Given the description of an element on the screen output the (x, y) to click on. 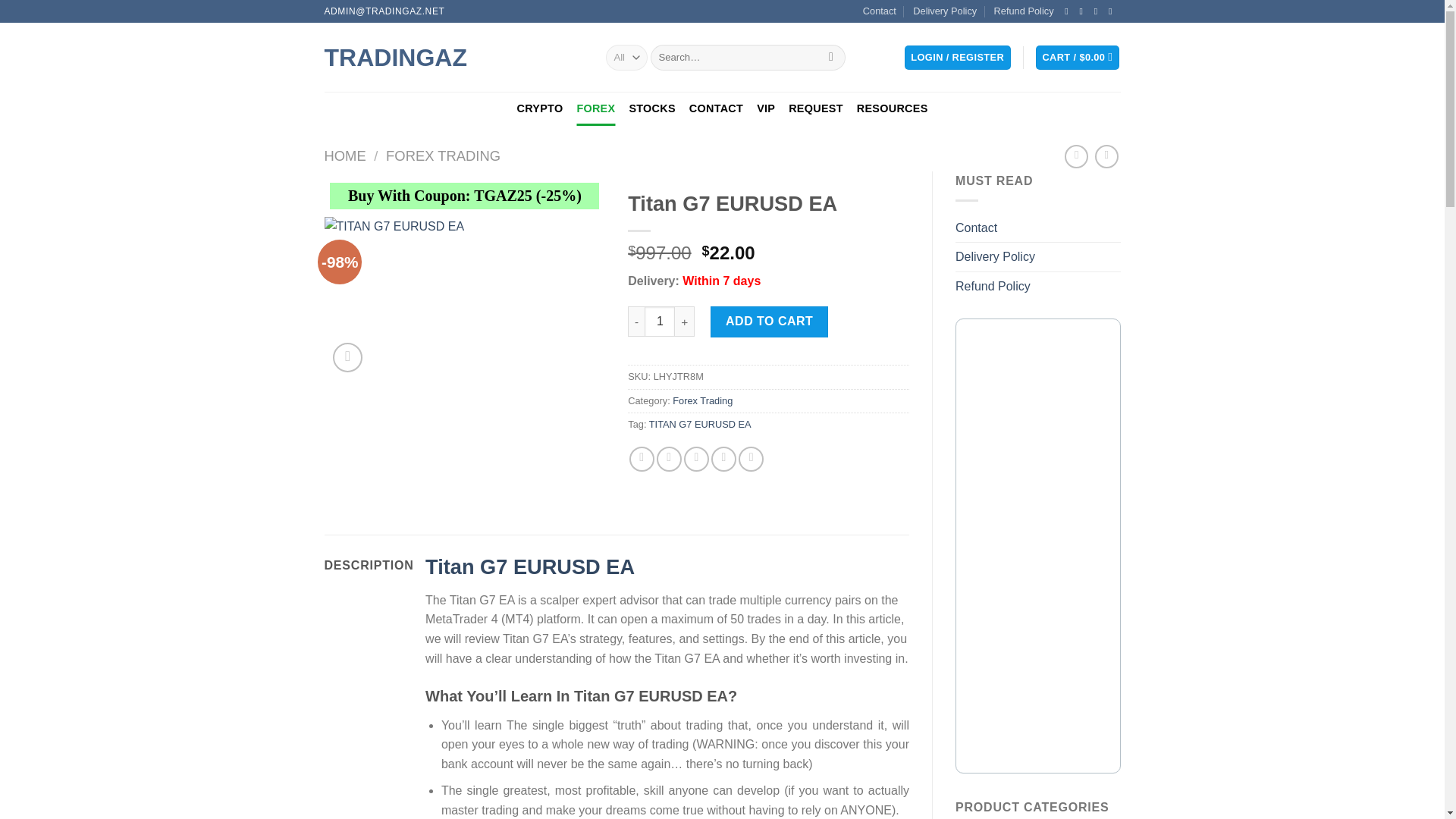
Refund Policy (1024, 11)
FOREX (595, 108)
CONTACT (715, 108)
Delivery Policy (944, 11)
Share on Twitter (668, 458)
Share on Facebook (640, 458)
Pin on Pinterest (723, 458)
Qty (660, 321)
FOREX TRADING (442, 155)
Contact (879, 11)
